Given the description of an element on the screen output the (x, y) to click on. 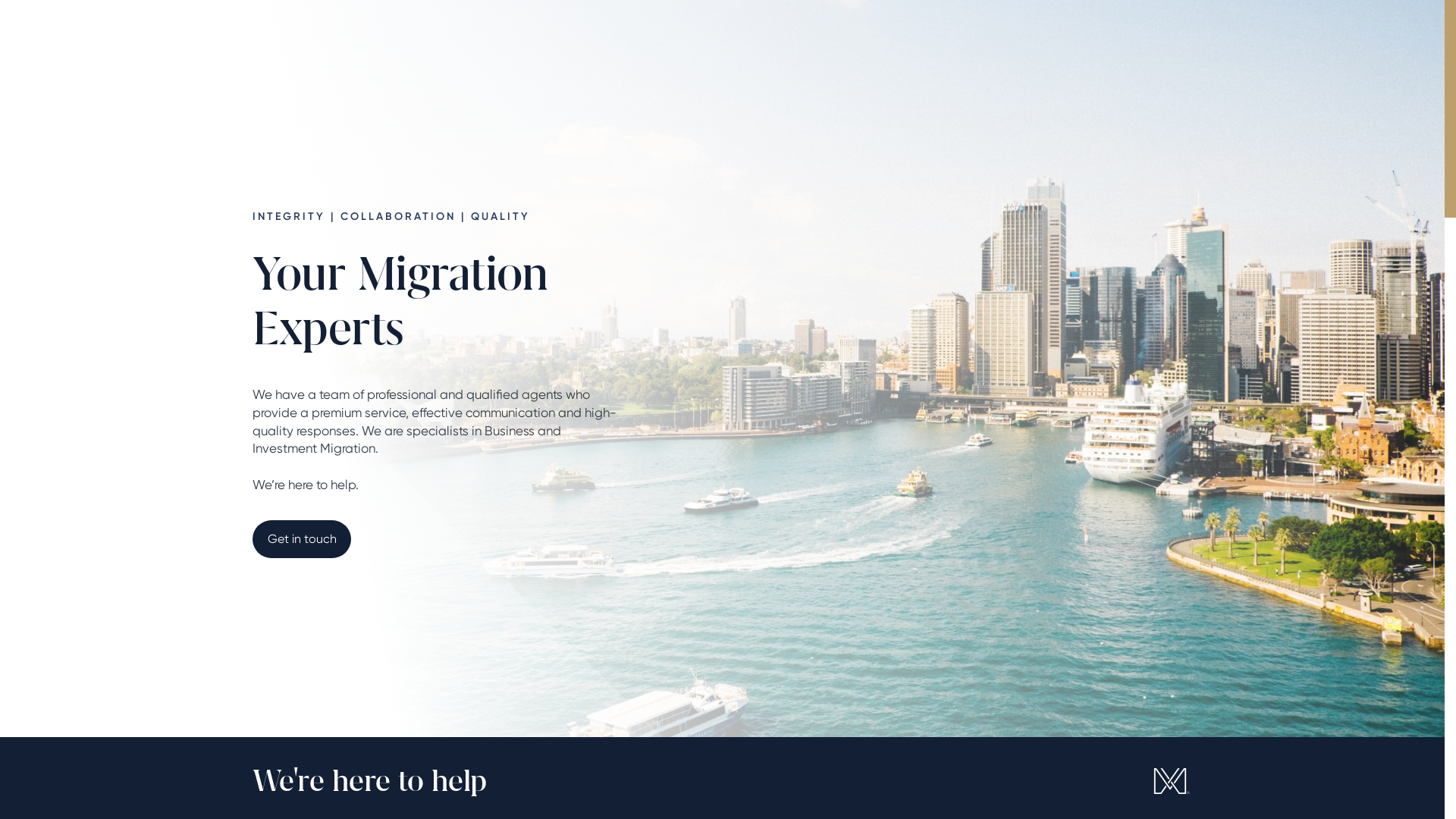
Home Element type: text (594, 42)
Contact Element type: text (843, 42)
About Element type: text (649, 42)
Get in touch Element type: text (300, 539)
Pricing Element type: text (780, 42)
Book a consultation Element type: text (1108, 42)
